Given the description of an element on the screen output the (x, y) to click on. 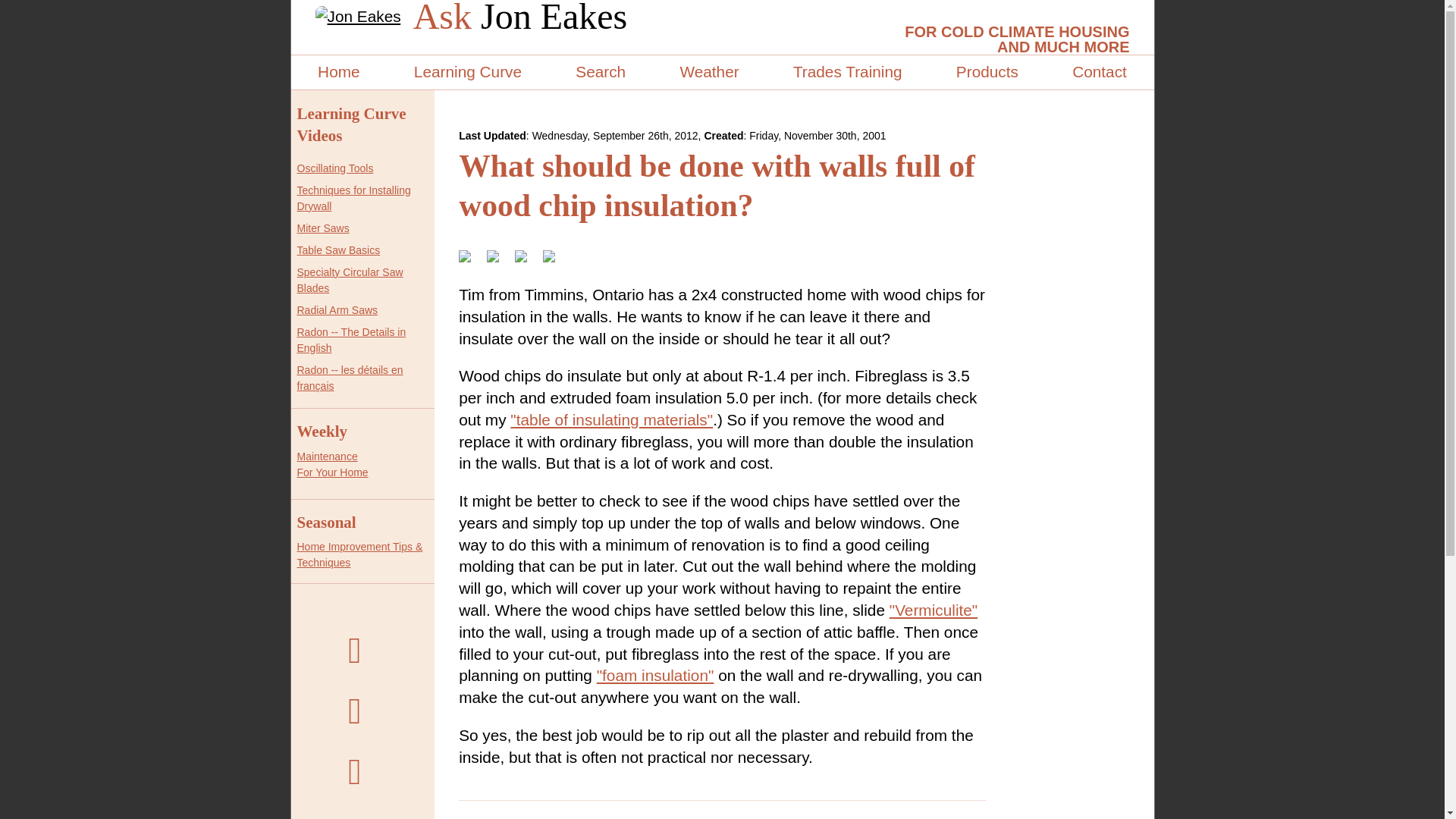
Trades Training (847, 72)
"foam insulation" (655, 674)
Specialty Circular Saw Blades (350, 280)
Learning Curve (467, 72)
Seasonal (326, 522)
Table Saw Basics (338, 250)
"Vermiculite" (932, 610)
Radial Arm Saws (337, 309)
Home (338, 72)
Products (351, 124)
Oscillating Tools (986, 72)
Radon -- The Details in English (335, 168)
Weekly (351, 339)
Ask Jon Eakes (322, 431)
